Given the description of an element on the screen output the (x, y) to click on. 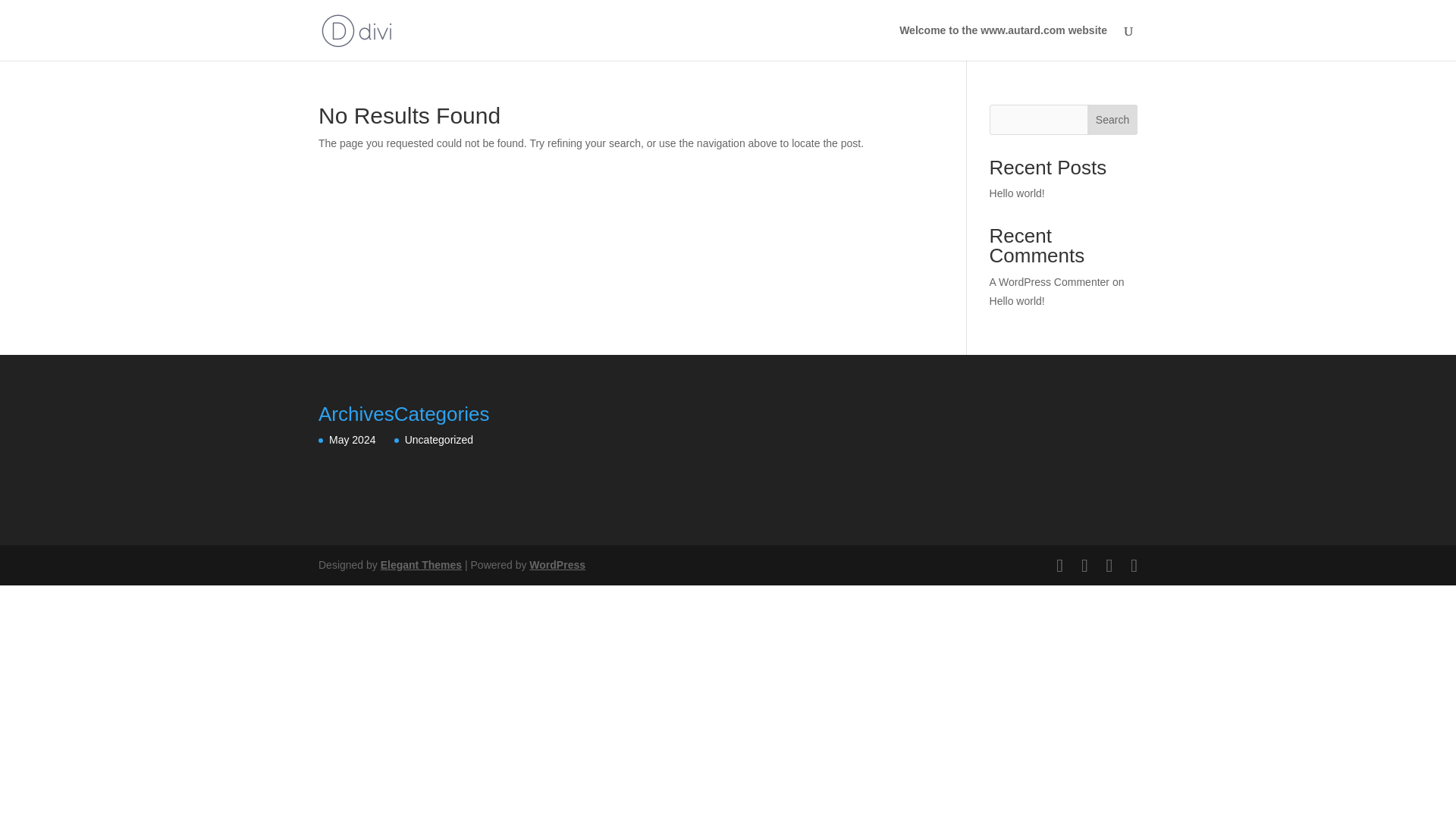
A WordPress Commenter (1049, 282)
WordPress (557, 564)
Search (1112, 119)
Elegant Themes (420, 564)
May 2024 (352, 439)
Uncategorized (438, 439)
Welcome to the www.autard.com website (1002, 42)
Hello world! (1017, 193)
Premium WordPress Themes (420, 564)
Hello world! (1017, 300)
